Given the description of an element on the screen output the (x, y) to click on. 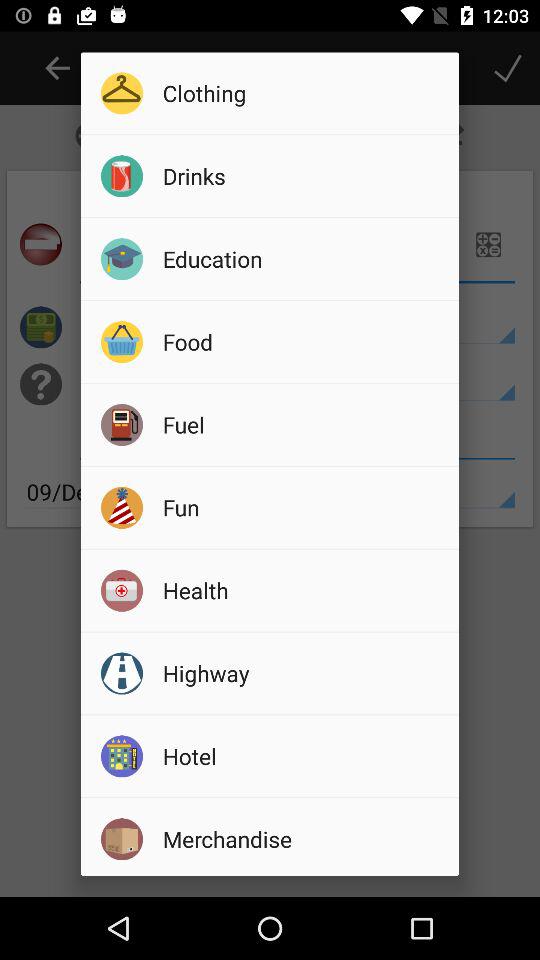
swipe until the drinks item (303, 175)
